Given the description of an element on the screen output the (x, y) to click on. 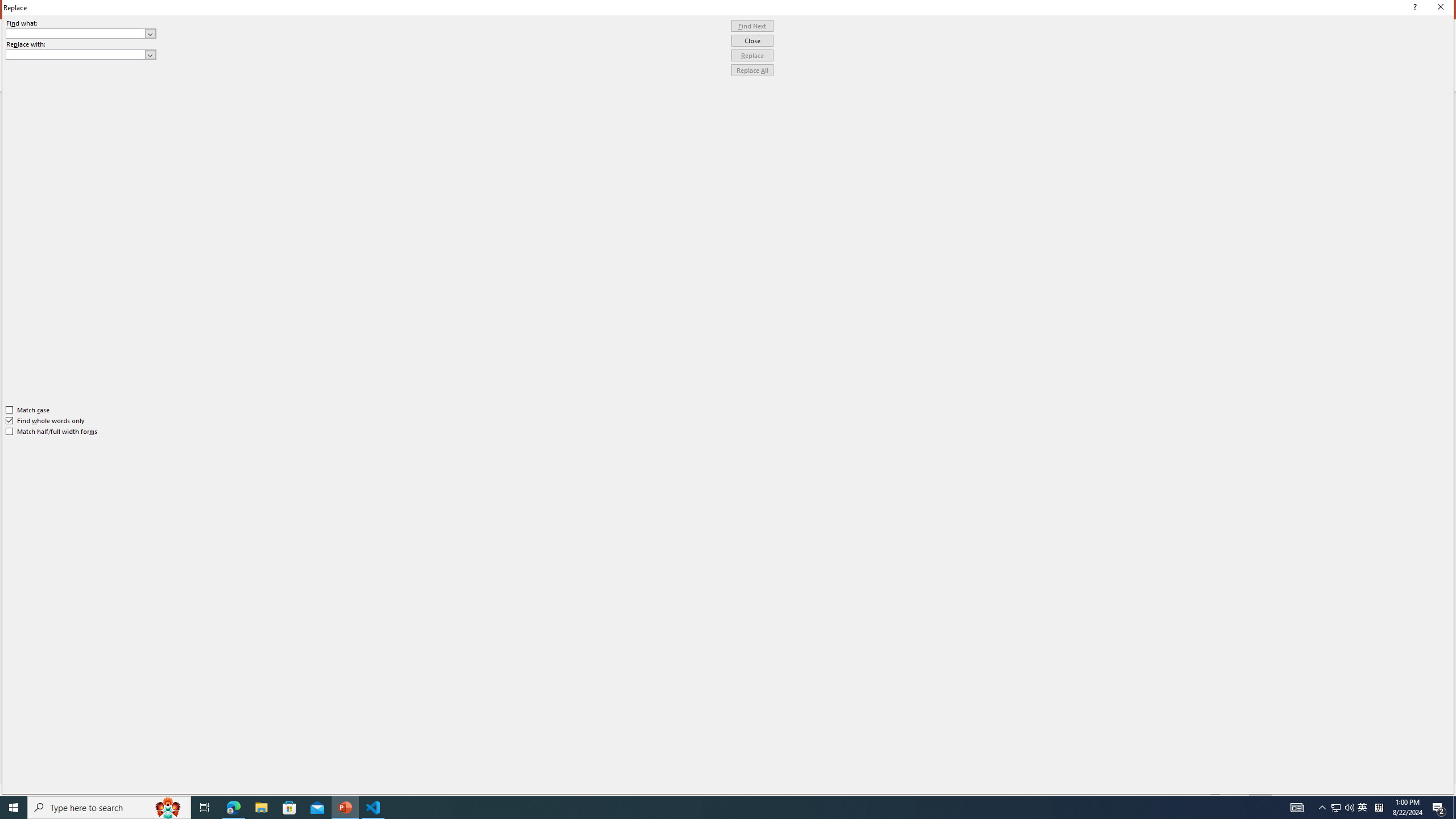
Replace All (752, 69)
Replace (752, 55)
Match case (27, 409)
Find Next (752, 25)
Replace with (75, 53)
Find what (80, 33)
Find what (75, 33)
Find whole words only (45, 420)
Match half/full width forms (52, 431)
Context help (1413, 8)
Replace with (80, 54)
